Given the description of an element on the screen output the (x, y) to click on. 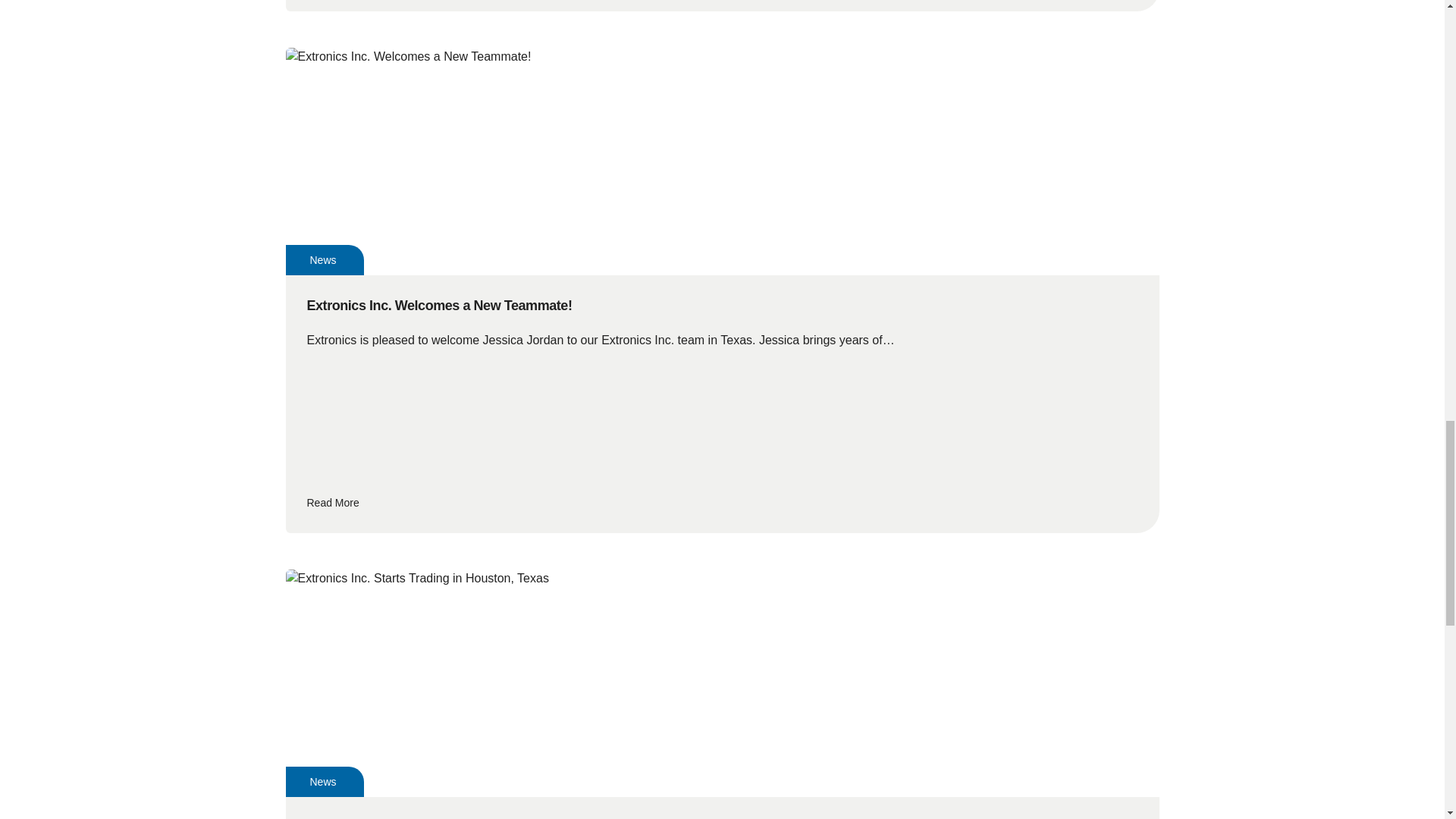
Read Extronics Inc. Welcomes a New Teammate! (721, 502)
